Given the description of an element on the screen output the (x, y) to click on. 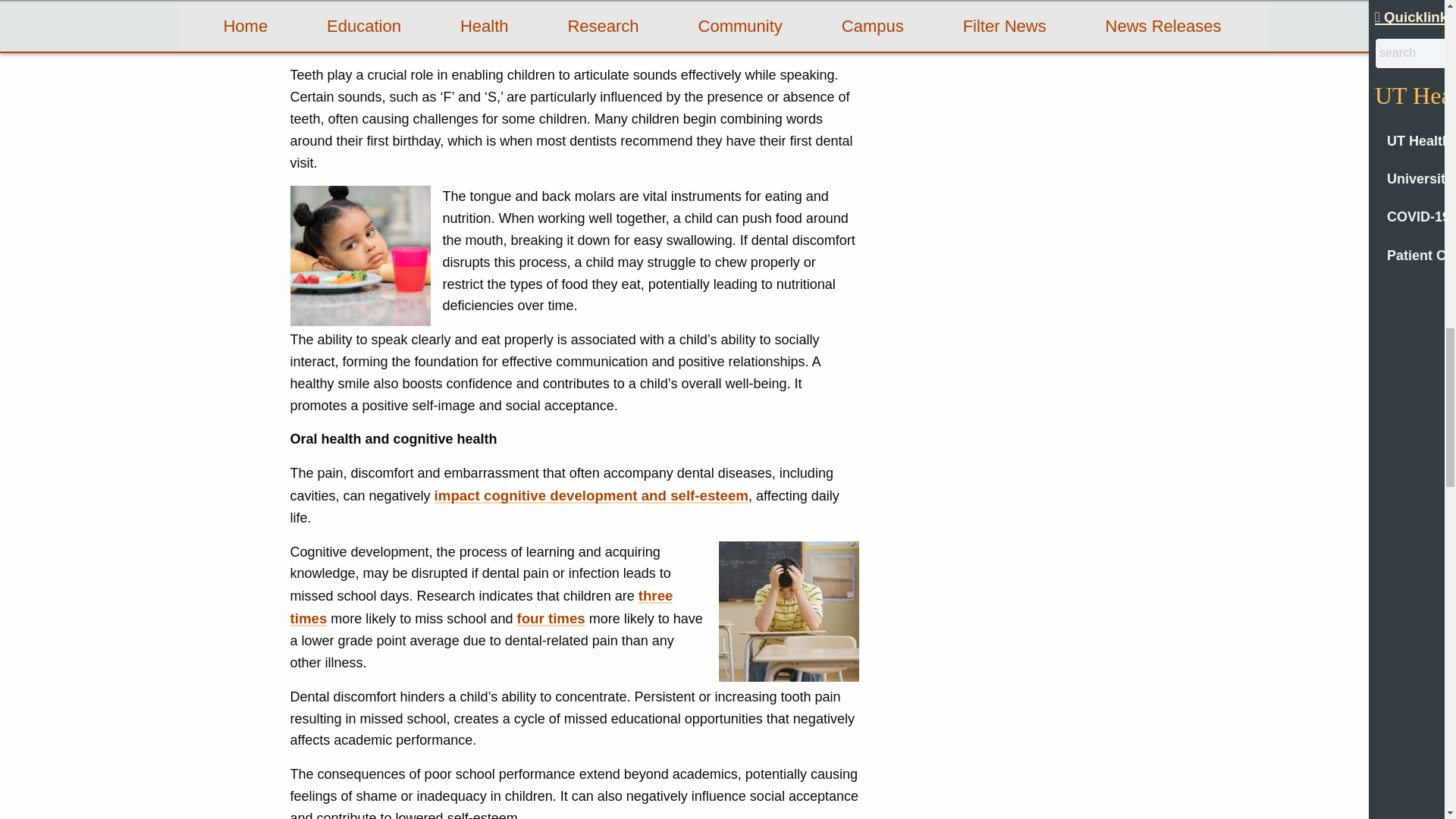
physical and social development (704, 19)
three times (480, 607)
four times (550, 618)
impact cognitive development and self-esteem (590, 495)
